Given the description of an element on the screen output the (x, y) to click on. 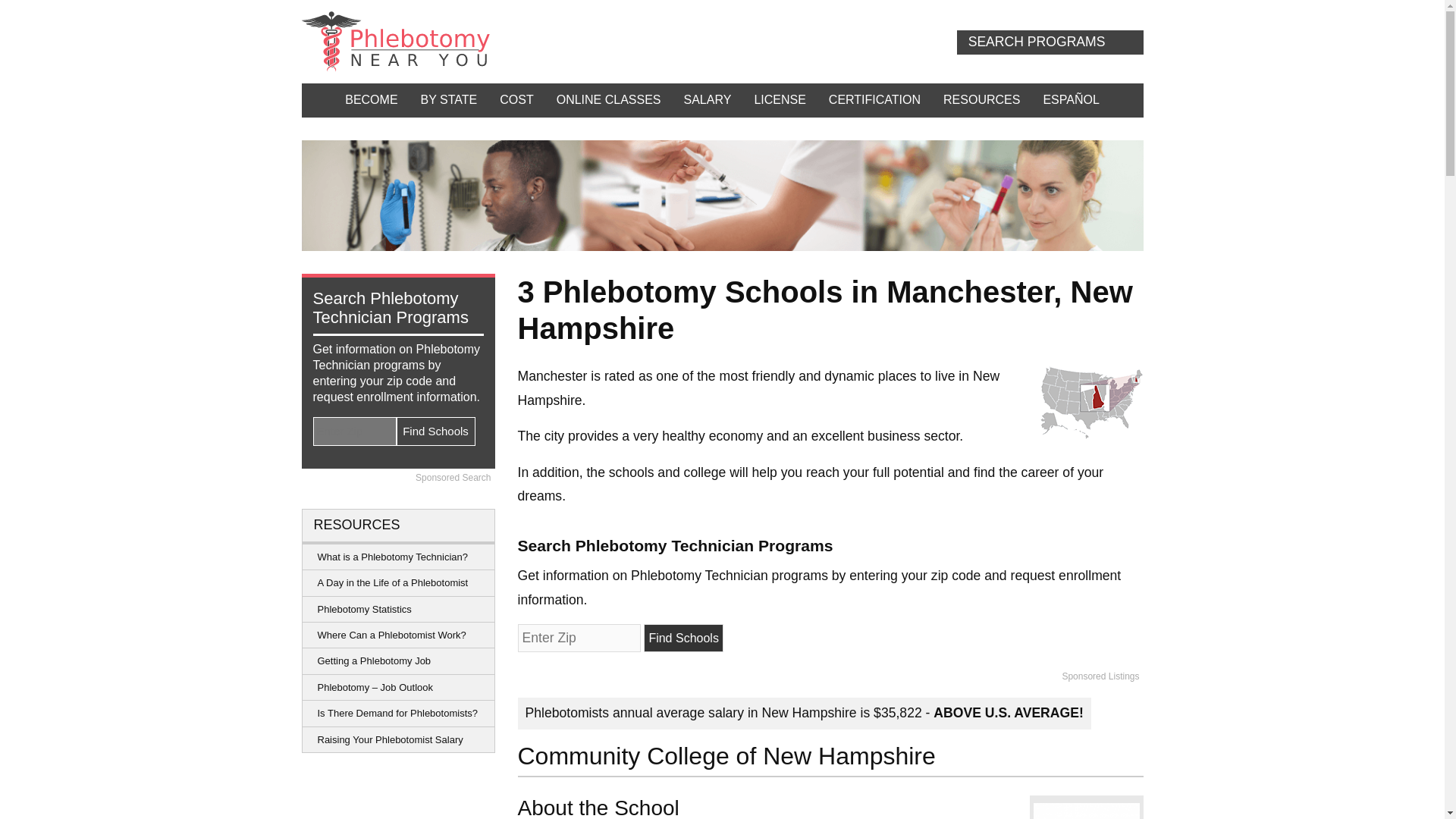
CERTIFICATION (873, 100)
BECOME (371, 100)
SALARY (707, 100)
By State (449, 100)
Salary (707, 100)
Find Schools (435, 430)
Cost (515, 100)
SEARCH PROGRAMS (1049, 42)
RESOURCES (980, 100)
Find Schools (683, 637)
Find Schools (683, 637)
Where Can a Phlebotomist Work? (397, 635)
License (779, 100)
Phlebotomy Statistics (397, 609)
Certification (873, 100)
